Given the description of an element on the screen output the (x, y) to click on. 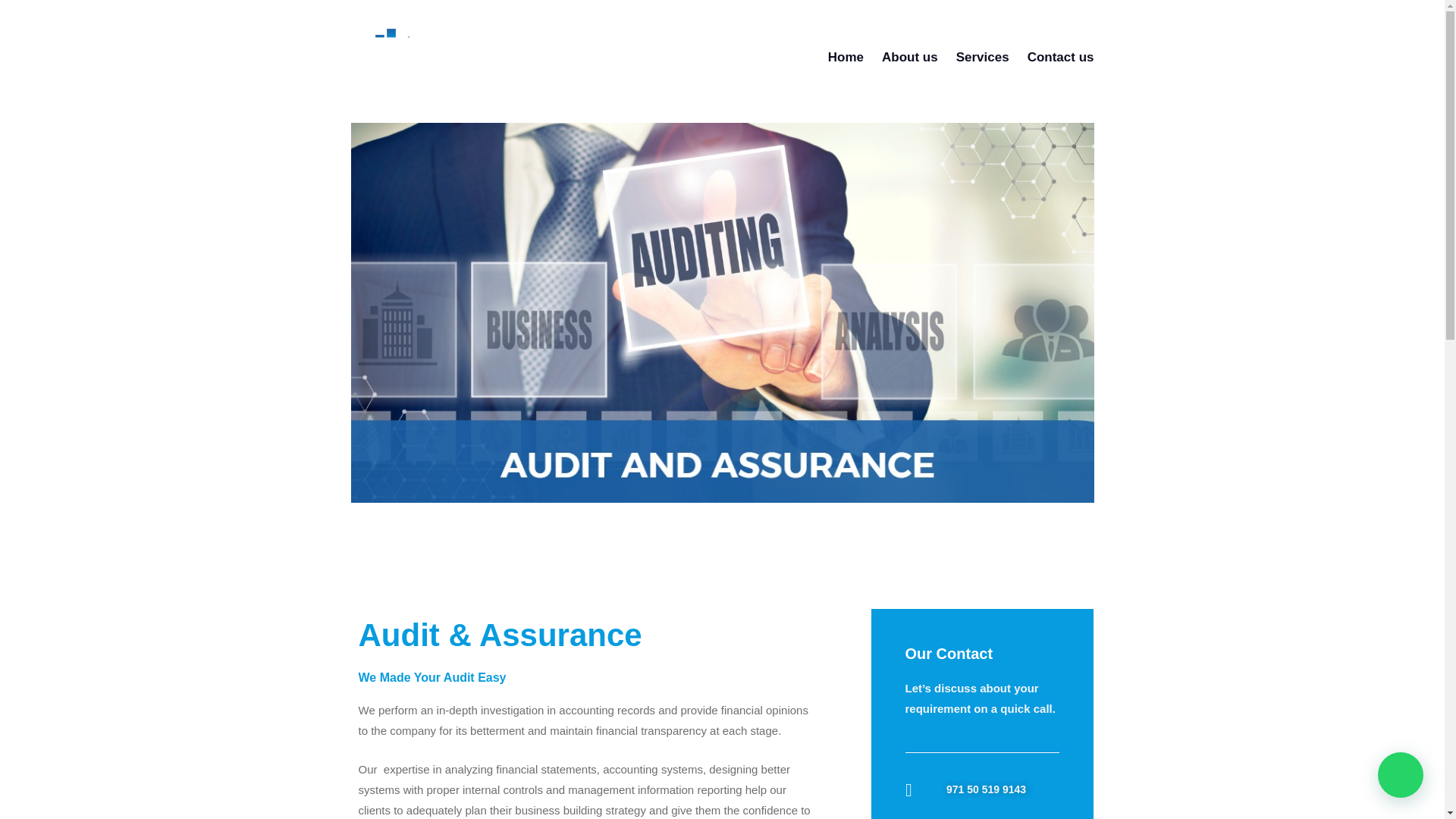
About us (909, 56)
Services (982, 56)
Contact us (1060, 56)
Home (845, 56)
